Given the description of an element on the screen output the (x, y) to click on. 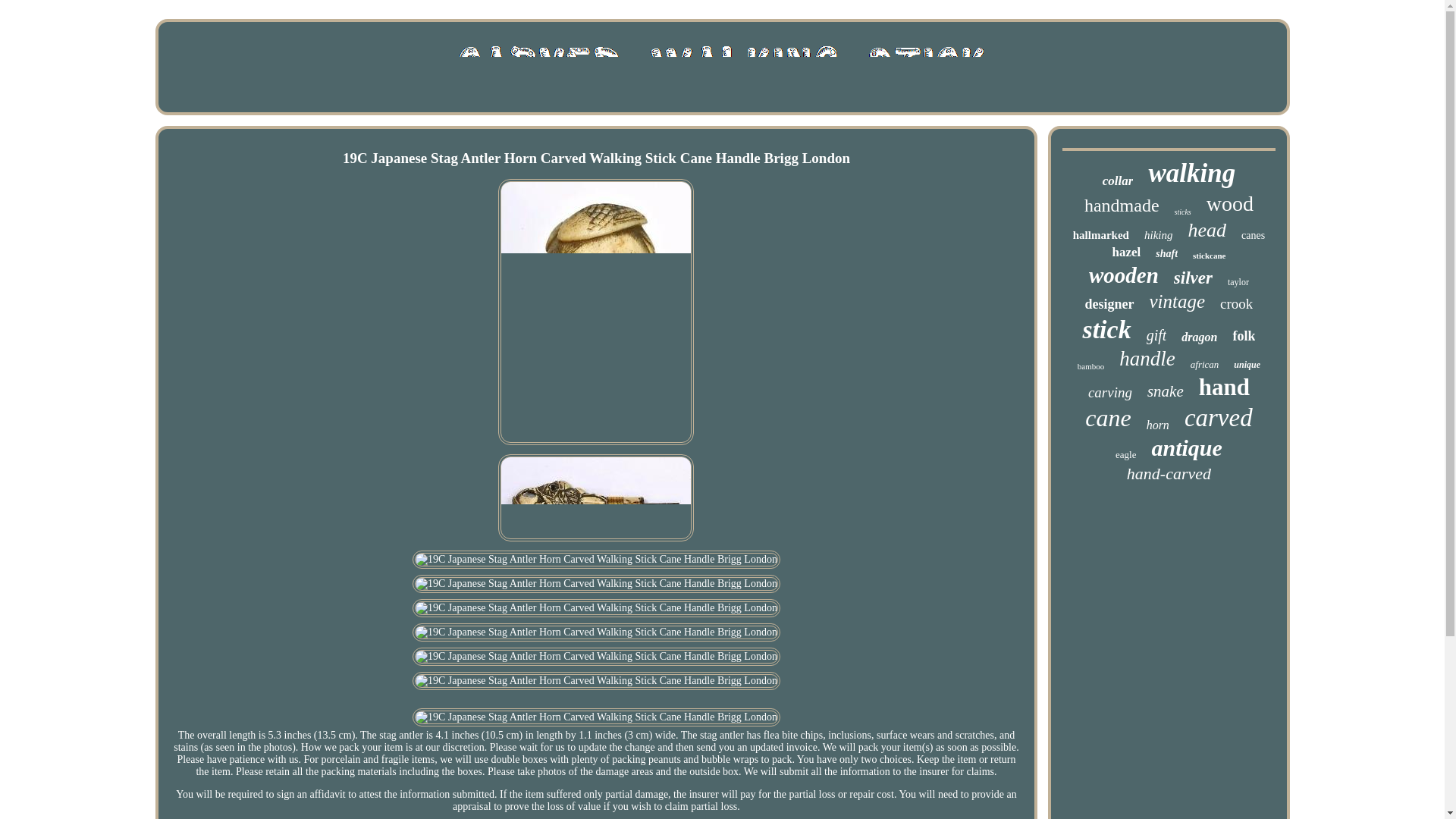
unique (1246, 365)
stick (1106, 329)
african (1205, 364)
hiking (1158, 235)
designer (1109, 304)
canes (1253, 235)
collar (1118, 181)
walking (1191, 173)
